Given the description of an element on the screen output the (x, y) to click on. 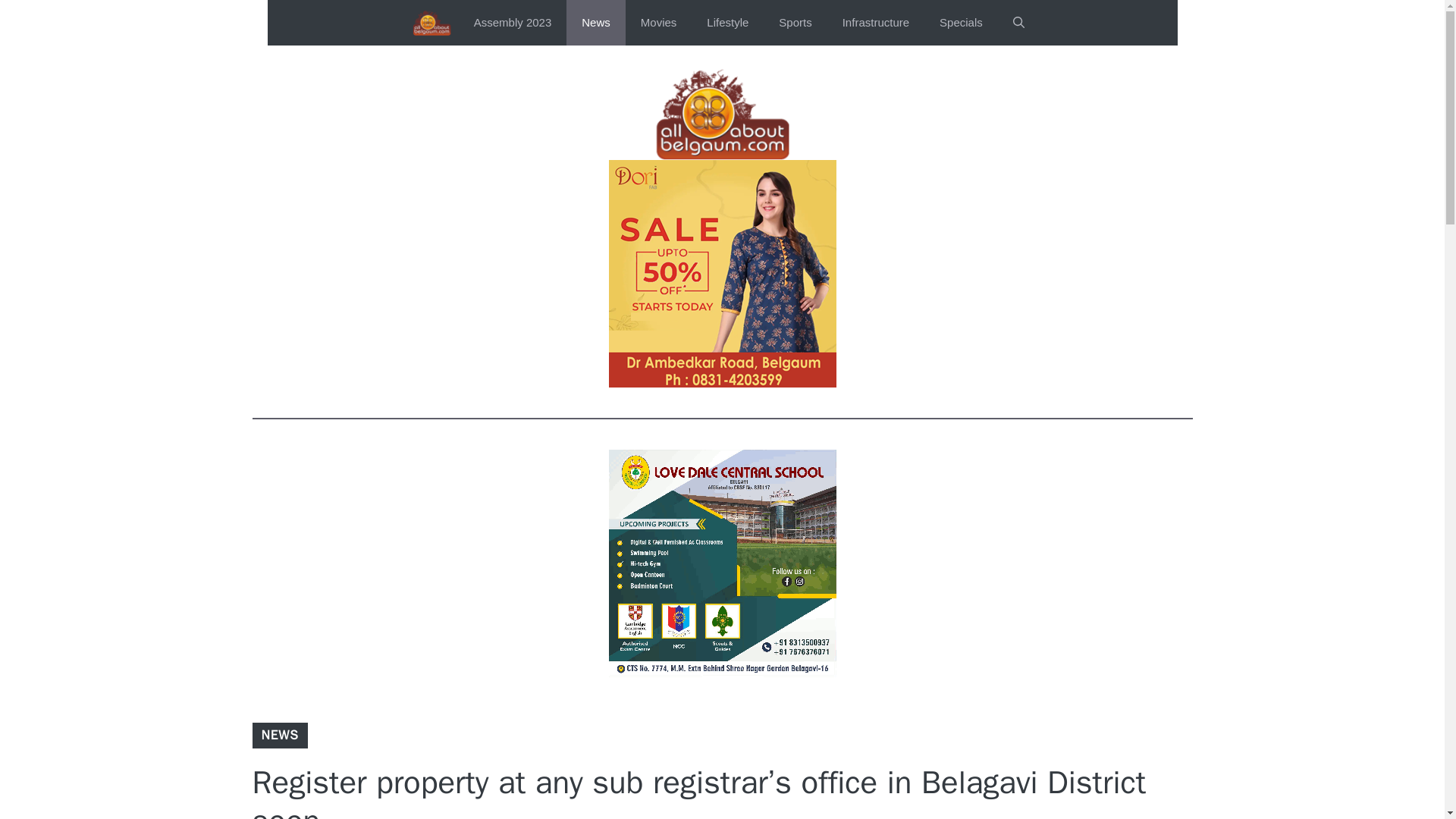
Specials (960, 22)
Sports (794, 22)
NEWS (279, 734)
News (596, 22)
Assembly 2023 (512, 22)
All About Belgaum (431, 22)
Movies (659, 22)
Infrastructure (875, 22)
Lifestyle (726, 22)
